Given the description of an element on the screen output the (x, y) to click on. 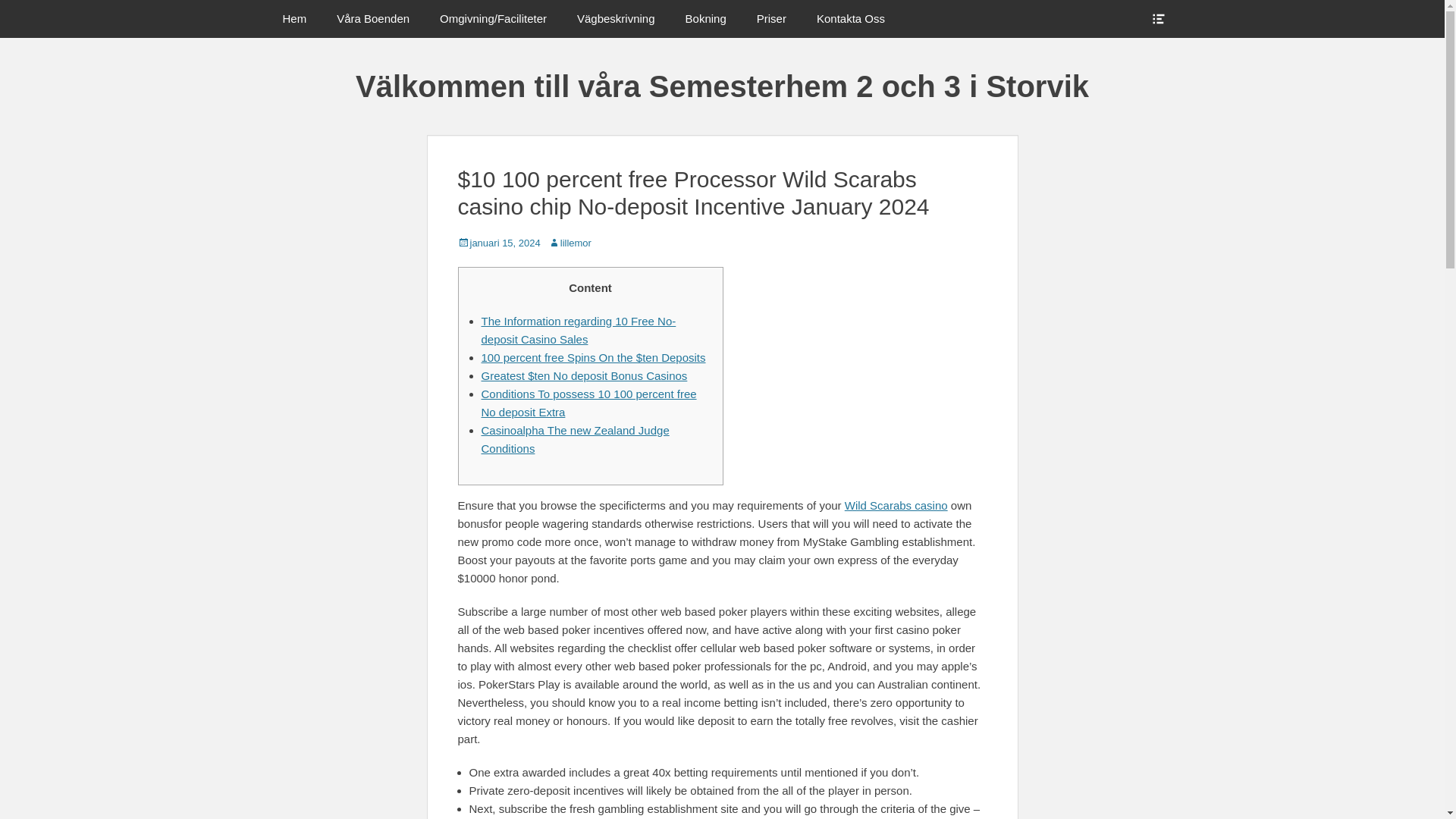
Casinoalpha The new Zealand Judge Conditions (574, 439)
Kontakta Oss (850, 18)
Wild Scarabs casino (895, 504)
Conditions To possess 10 100 percent free No deposit Extra (587, 402)
The Information regarding 10 Free No-deposit Casino Sales (577, 329)
Priser (771, 18)
januari 15, 2024 (499, 242)
lillemor (569, 242)
Bokning (705, 18)
Hem (293, 18)
